Given the description of an element on the screen output the (x, y) to click on. 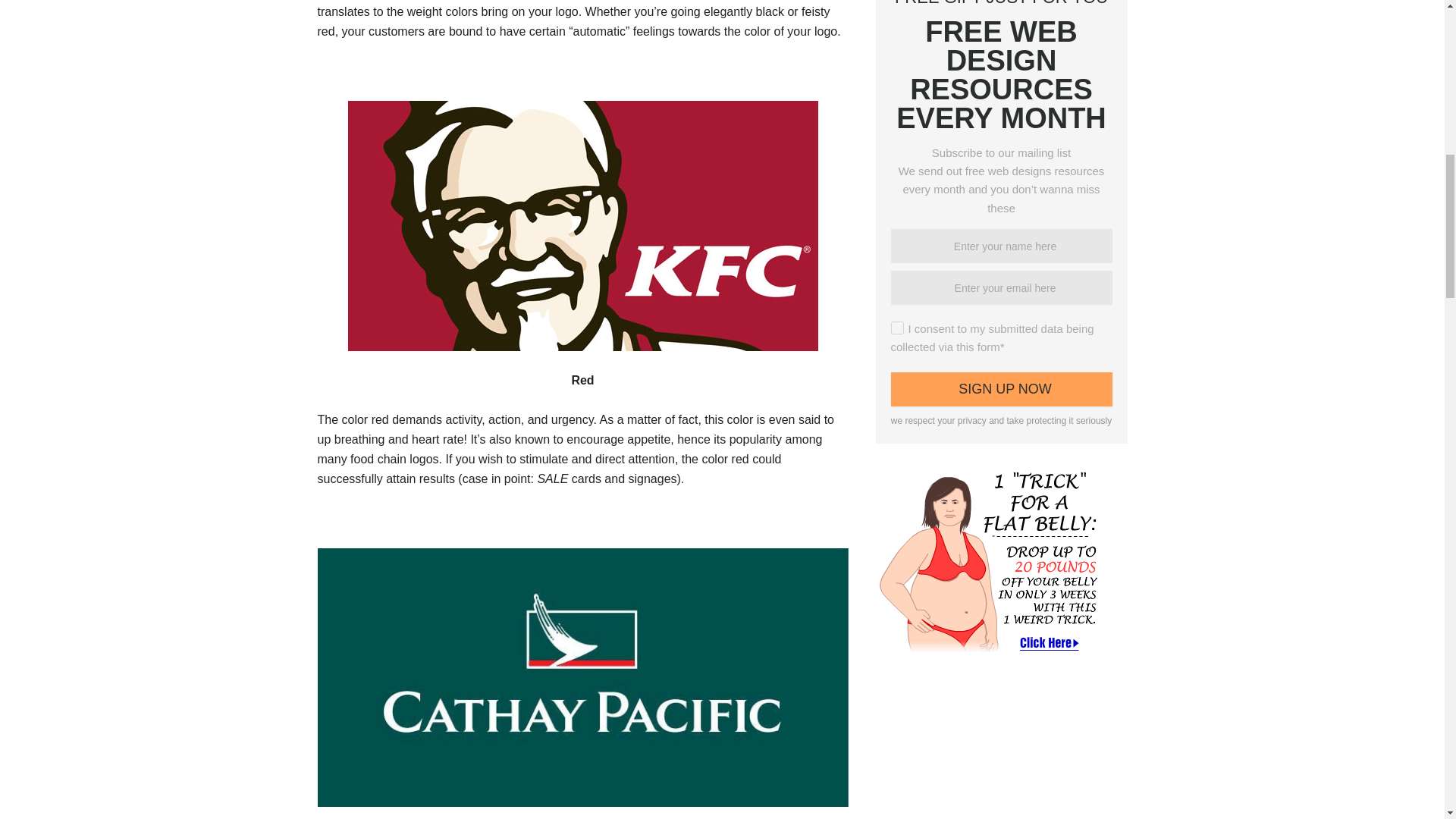
Sign Up Now (1000, 389)
on (895, 327)
Sign Up Now (1000, 389)
